Given the description of an element on the screen output the (x, y) to click on. 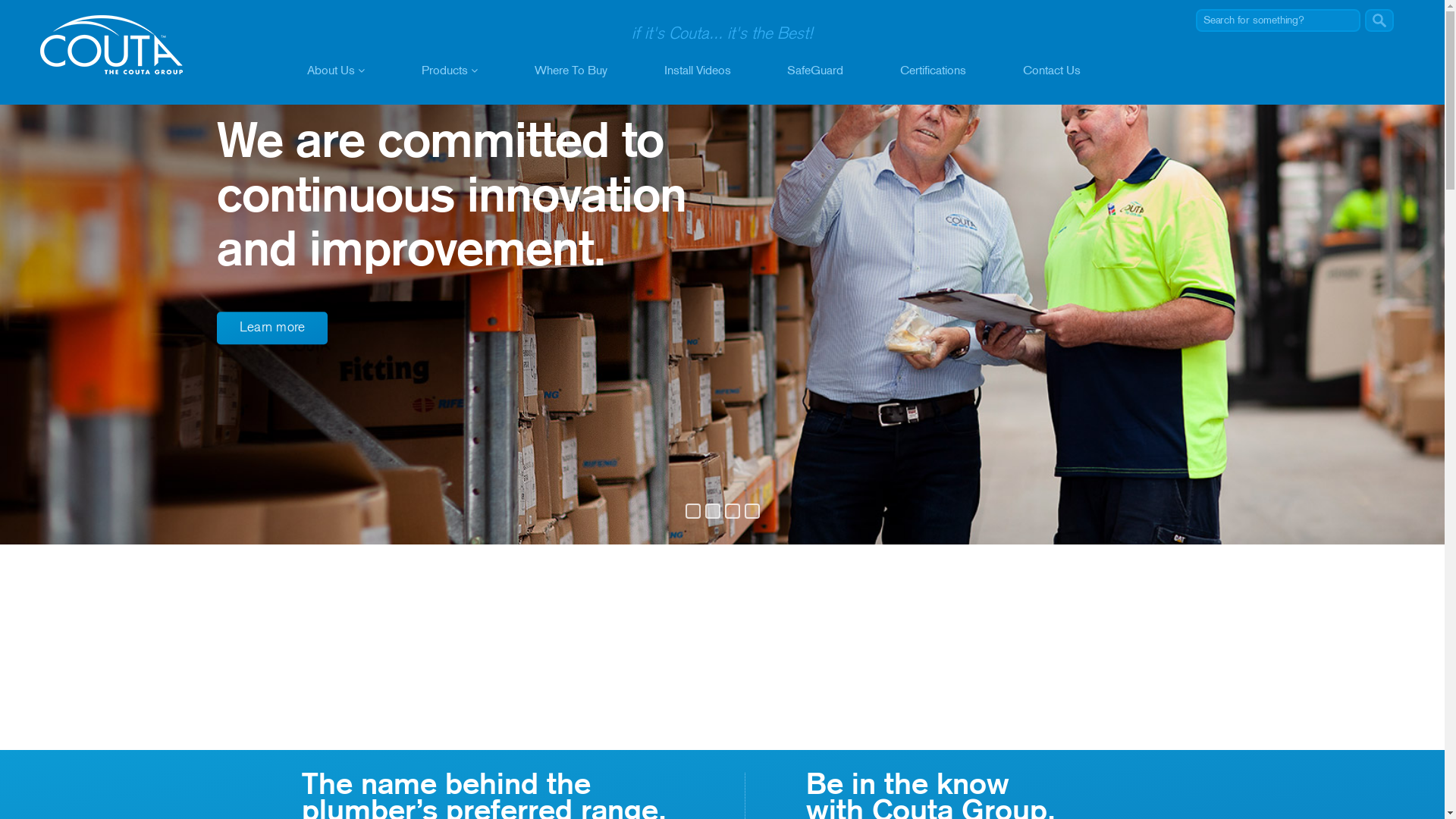
Where To Buy Element type: text (570, 71)
Certifications Element type: text (933, 71)
Install Videos Element type: text (697, 71)
Products Element type: text (449, 71)
Contact Us Element type: text (1051, 71)
About Us Element type: text (335, 71)
SEARCH ICON Element type: text (1379, 20)
SafeGuard Element type: text (815, 71)
Learn more Element type: text (272, 327)
